Given the description of an element on the screen output the (x, y) to click on. 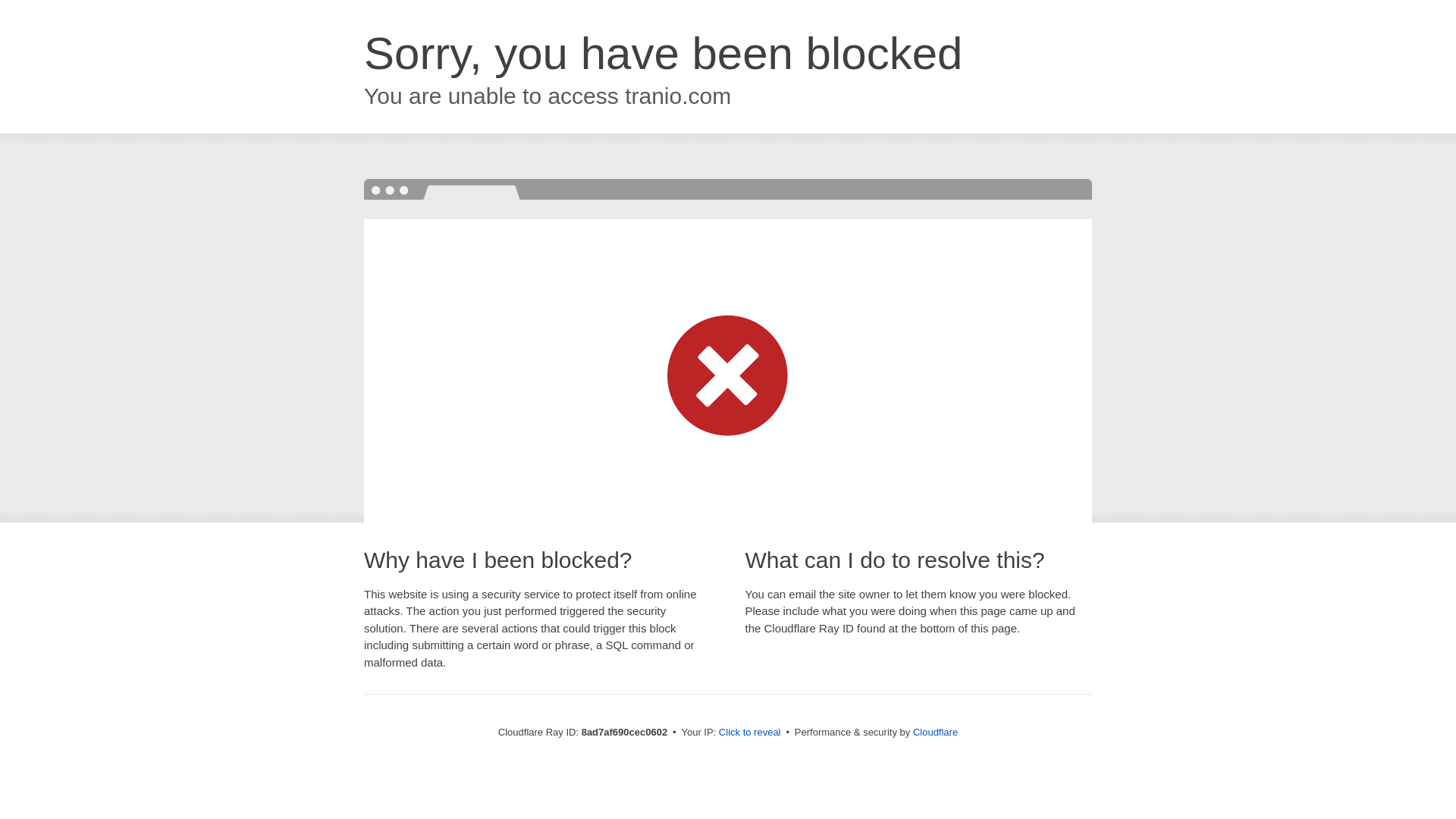
Click to reveal (749, 732)
Cloudflare (935, 731)
